Given the description of an element on the screen output the (x, y) to click on. 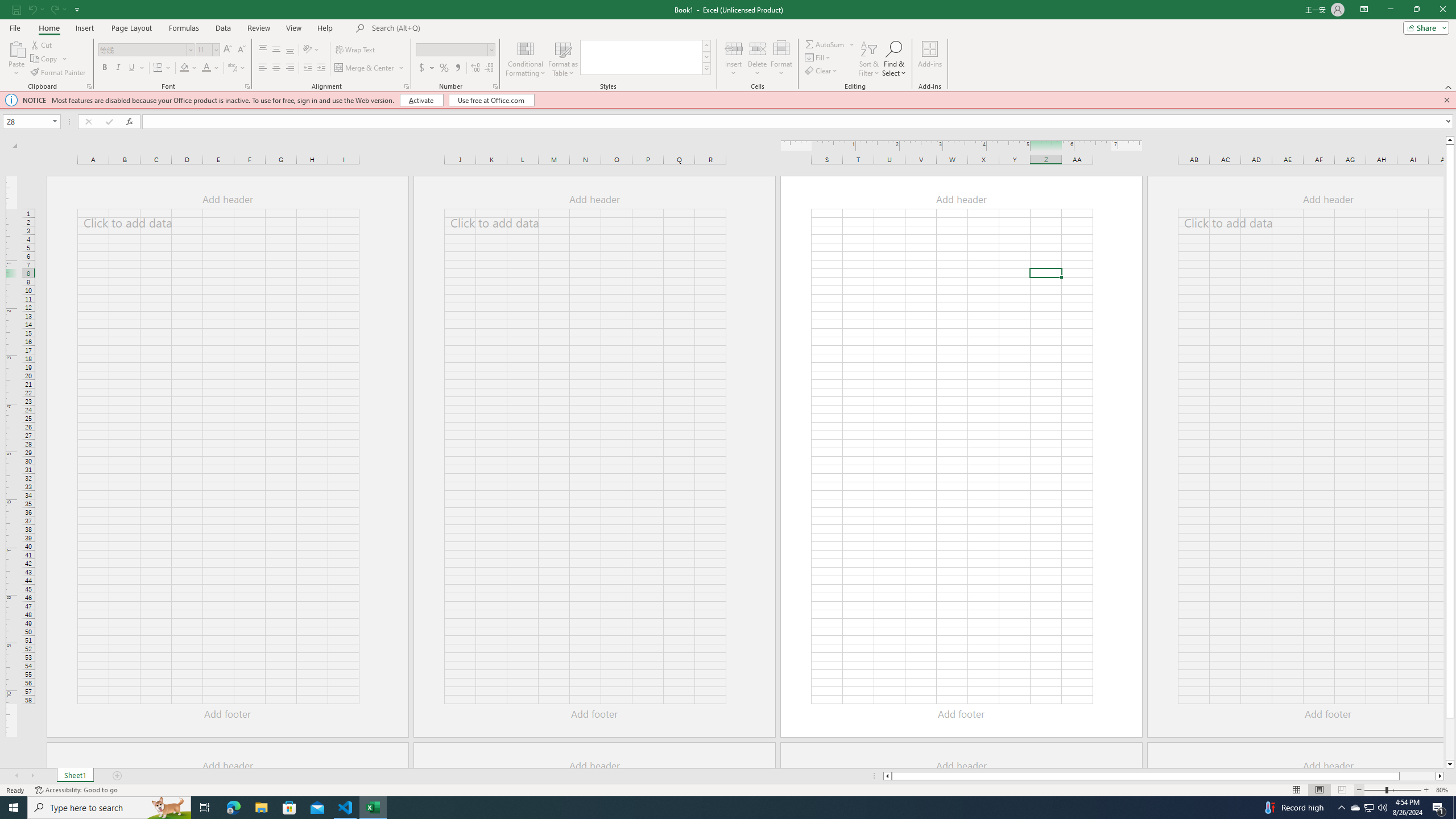
Delete Cells... (757, 48)
Format (781, 58)
Decrease Decimal (489, 67)
Wrap Text (355, 49)
Format Cell Number (494, 85)
Office Clipboard... (88, 85)
Percent Style (443, 67)
